Given the description of an element on the screen output the (x, y) to click on. 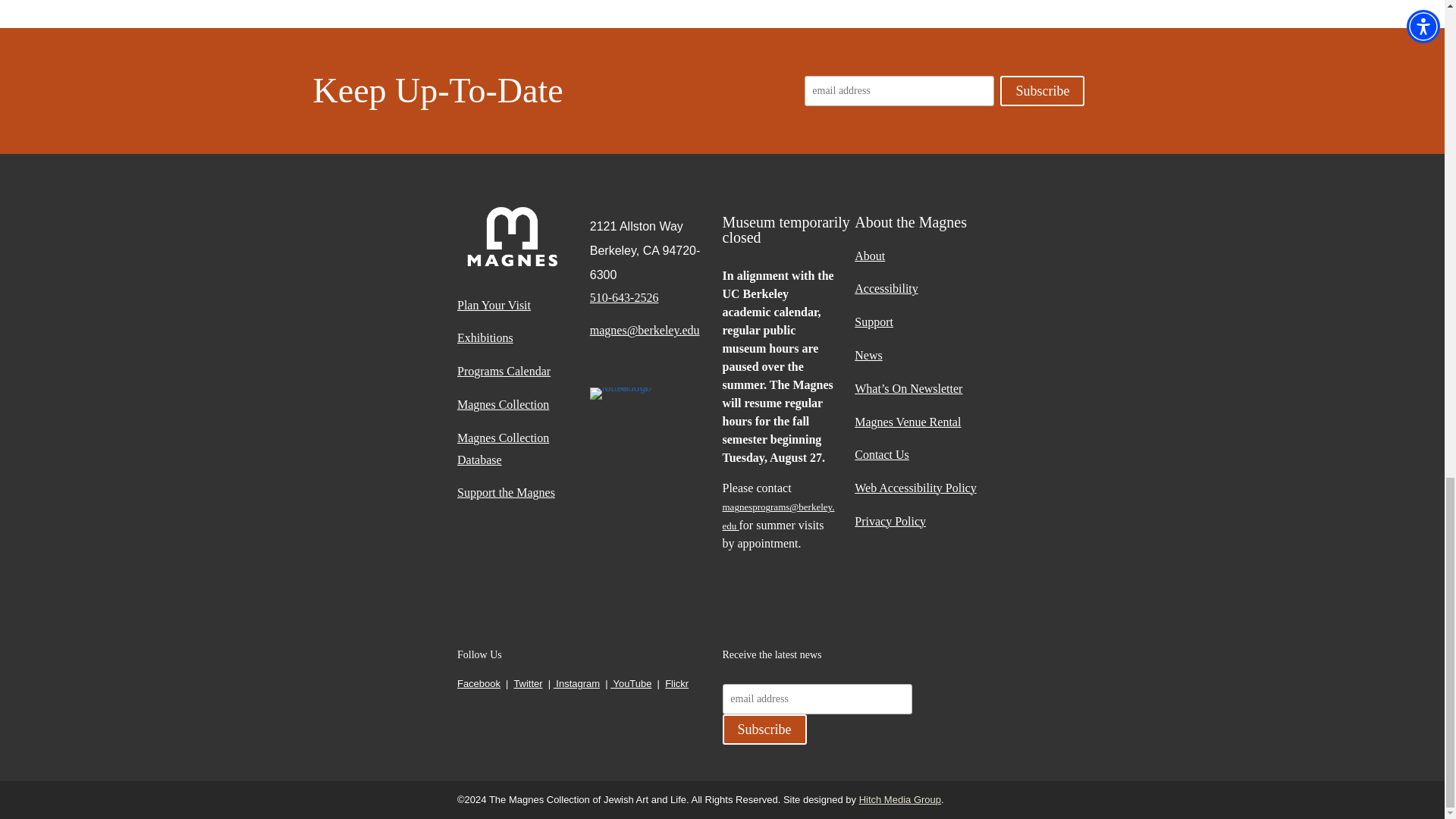
Magnes Instagram Page (576, 683)
Magnes Facebook Page (478, 683)
Subscribe (1042, 91)
Subscribe (764, 729)
Magnes Twitter Page (527, 683)
Magnes Email (655, 336)
Magnes YouTube Channel (630, 683)
Plan Your Visit (523, 311)
Hitch Media Group Website (899, 799)
Subscribe (1042, 91)
Magnes Flickr Account (676, 683)
Magnes Logo (512, 236)
